Given the description of an element on the screen output the (x, y) to click on. 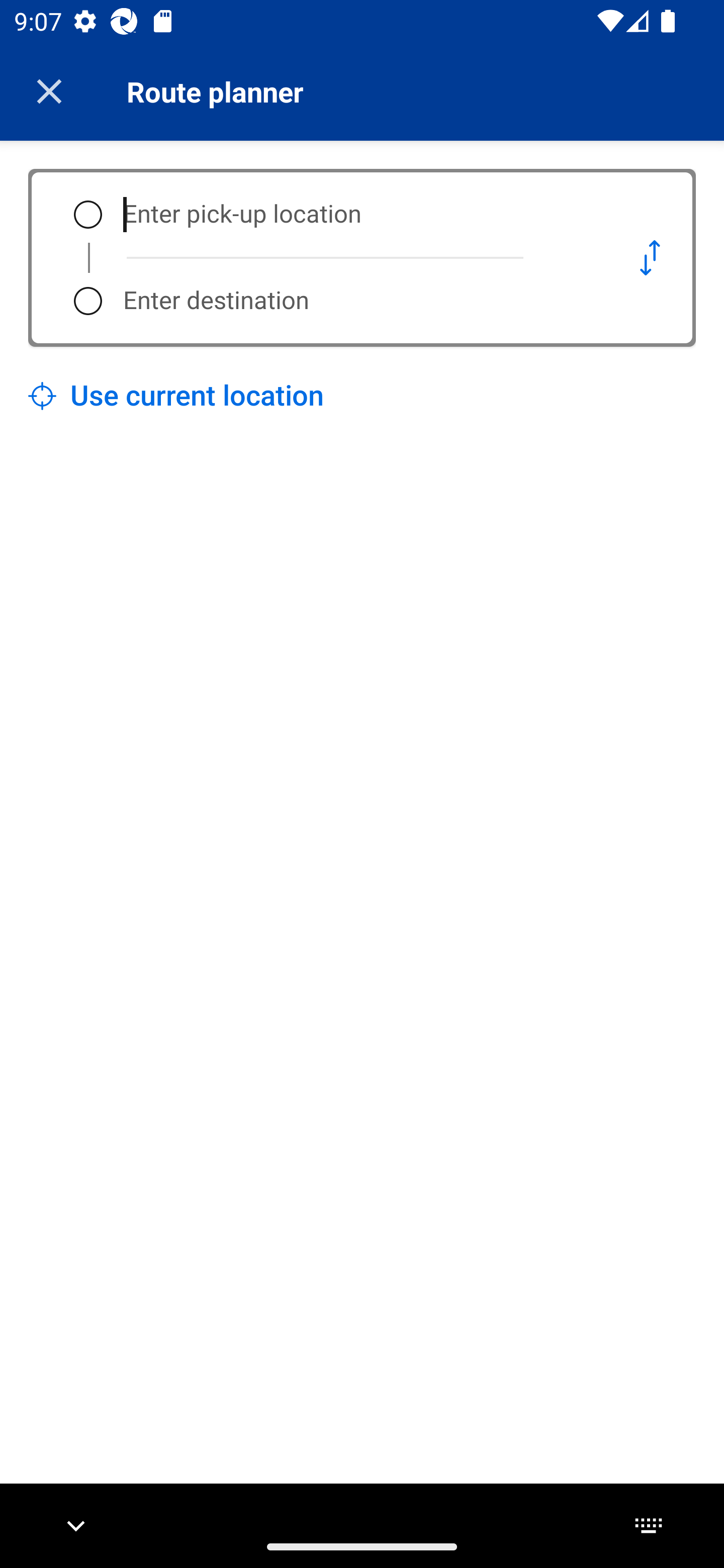
Close (49, 91)
Enter pick-up location (355, 214)
Swap pick-up location and destination (650, 257)
Enter destination (355, 300)
Use current location (176, 395)
